Given the description of an element on the screen output the (x, y) to click on. 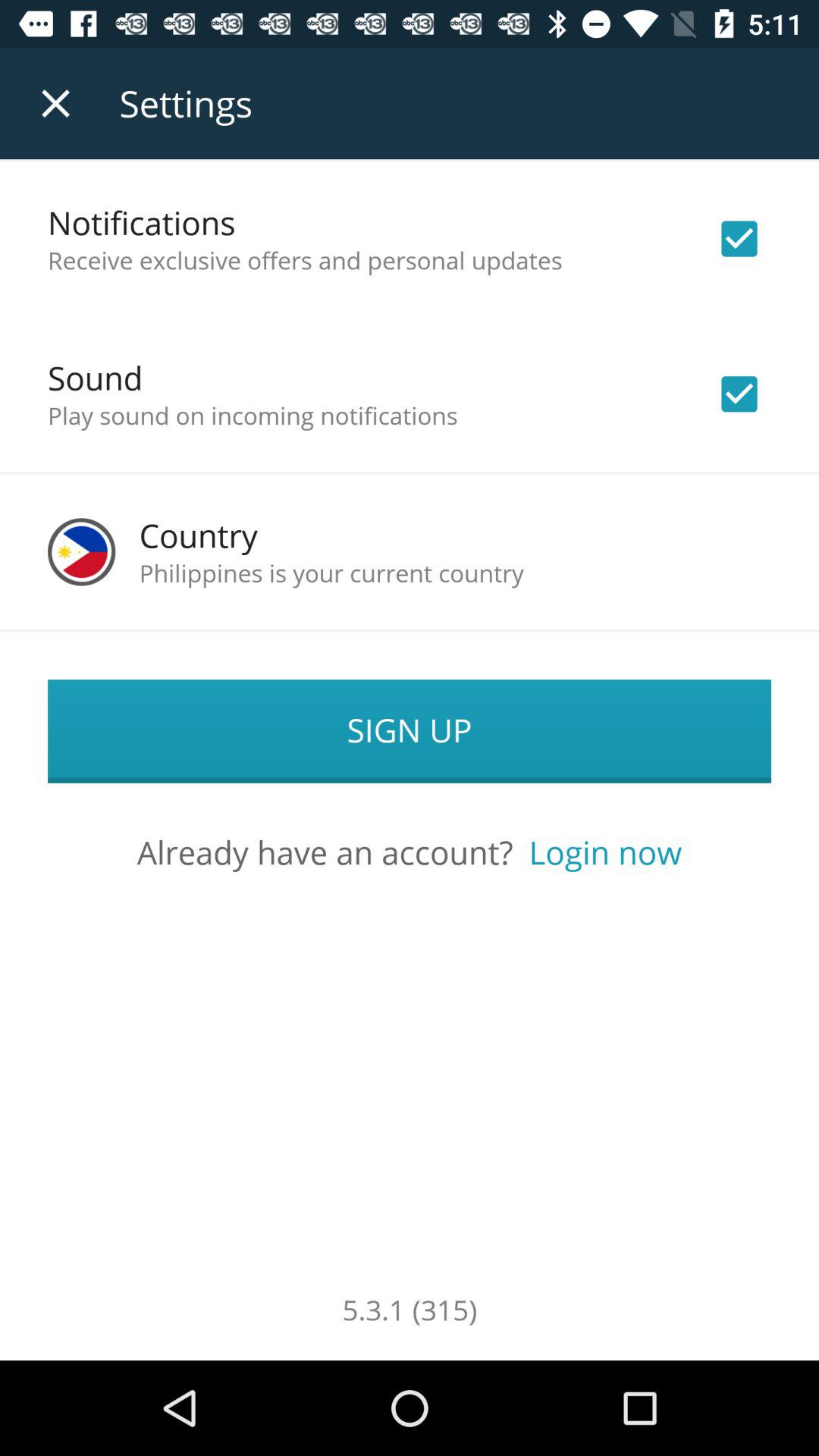
check box to receive notifications (739, 238)
